Given the description of an element on the screen output the (x, y) to click on. 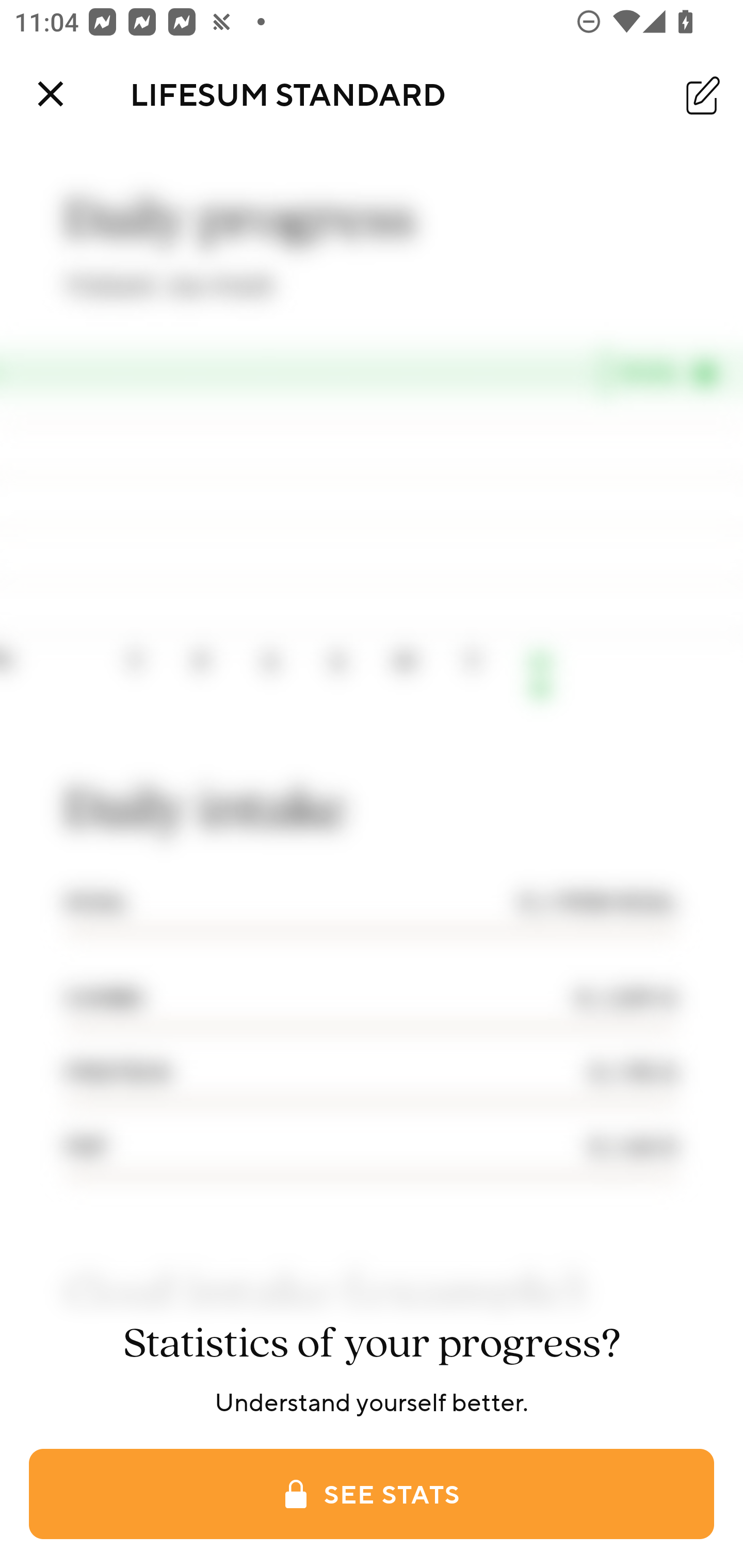
SEE STATS (371, 1493)
